Given the description of an element on the screen output the (x, y) to click on. 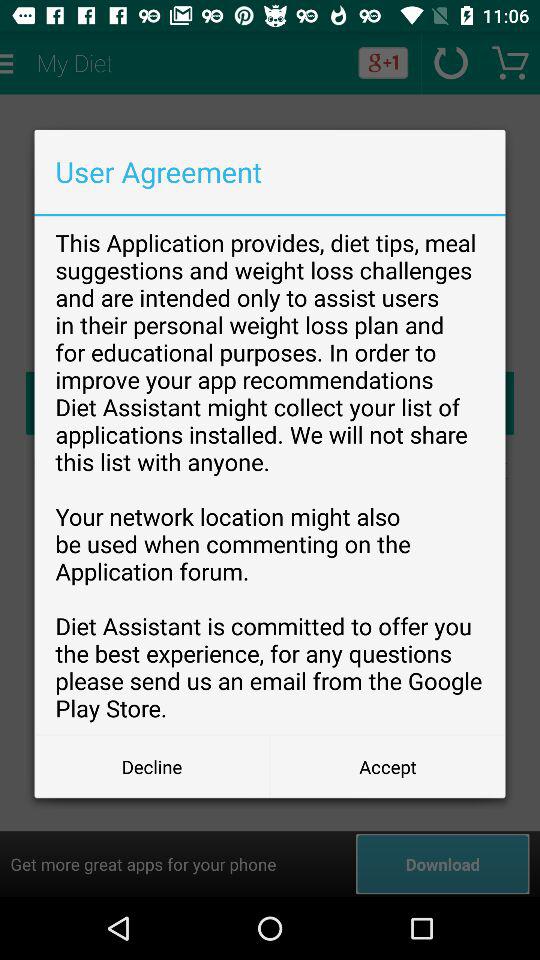
turn on the decline (151, 766)
